Given the description of an element on the screen output the (x, y) to click on. 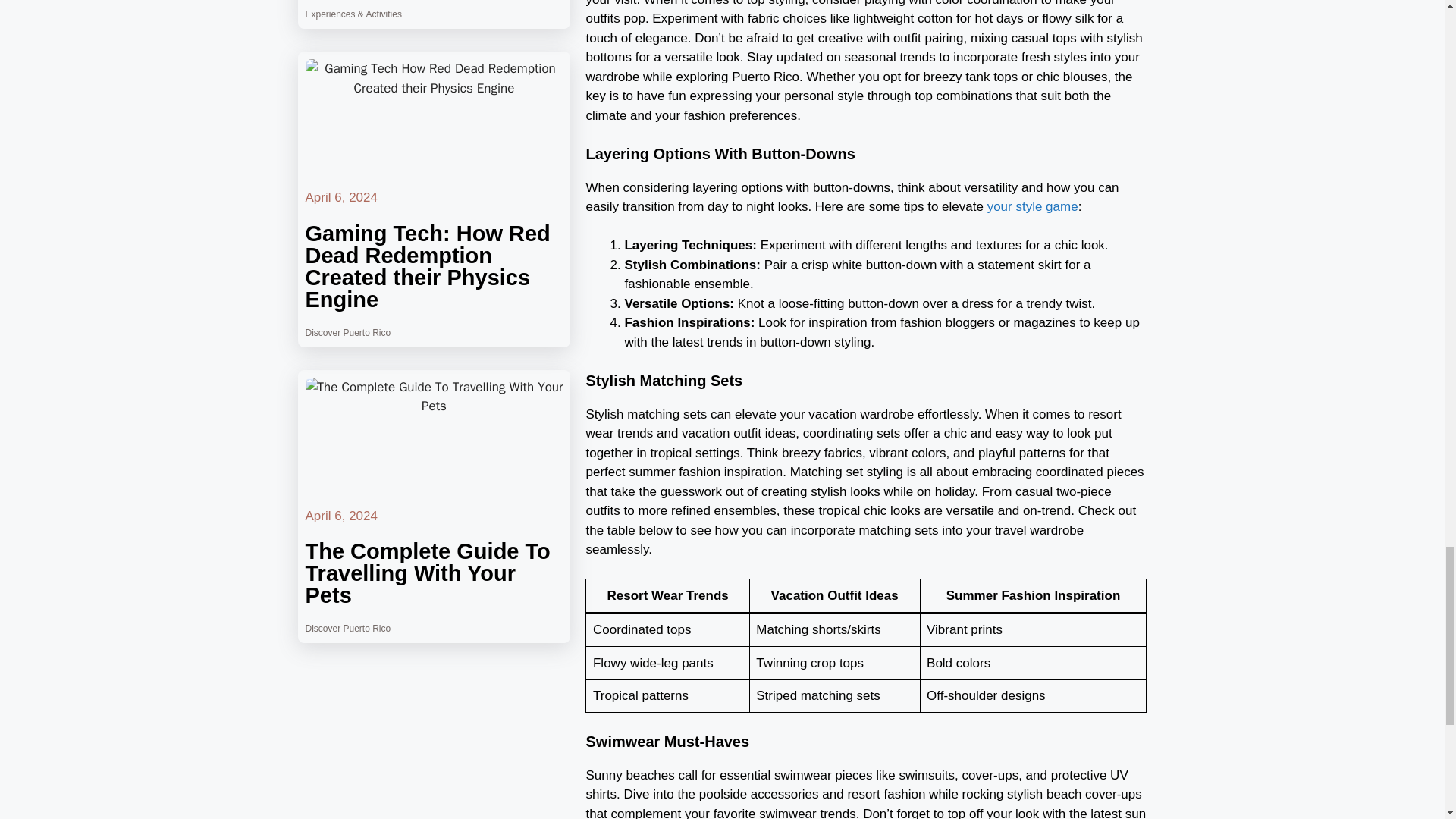
Discover Puerto Rico (347, 332)
your style game (1032, 206)
Discover Puerto Rico (347, 628)
The Complete Guide To Travelling With Your Pets (427, 572)
